Given the description of an element on the screen output the (x, y) to click on. 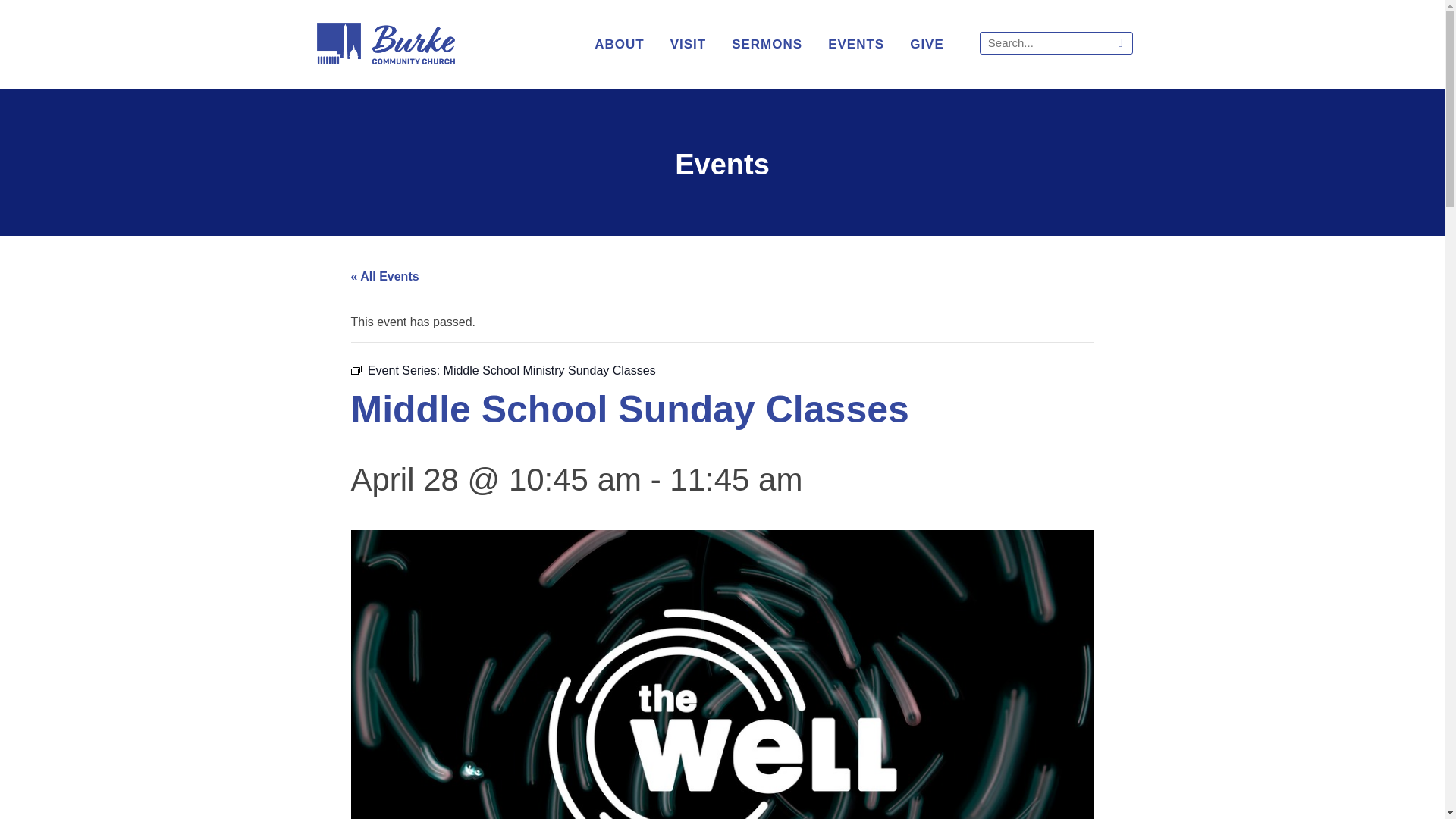
Event Series (355, 369)
SERMONS (766, 44)
ABOUT (618, 44)
VISIT (688, 44)
Middle School Ministry Sunday Classes (550, 369)
EVENTS (855, 44)
GIVE (927, 44)
